Given the description of an element on the screen output the (x, y) to click on. 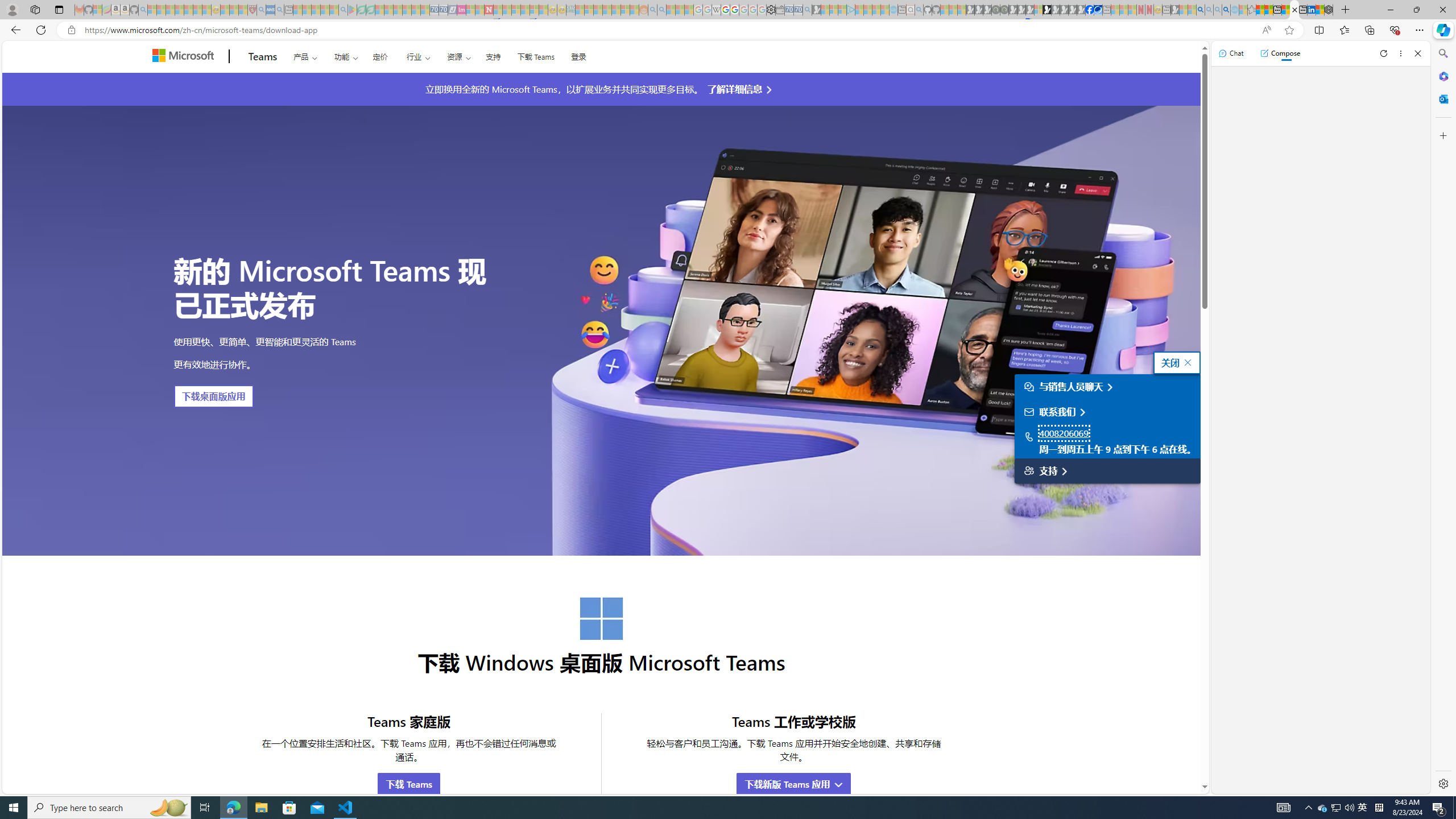
Latest Politics News & Archive | Newsweek.com - Sleeping (488, 9)
New Report Confirms 2023 Was Record Hot | Watch - Sleeping (188, 9)
14 Common Myths Debunked By Scientific Facts - Sleeping (506, 9)
utah sues federal government - Search - Sleeping (279, 9)
